Given the description of an element on the screen output the (x, y) to click on. 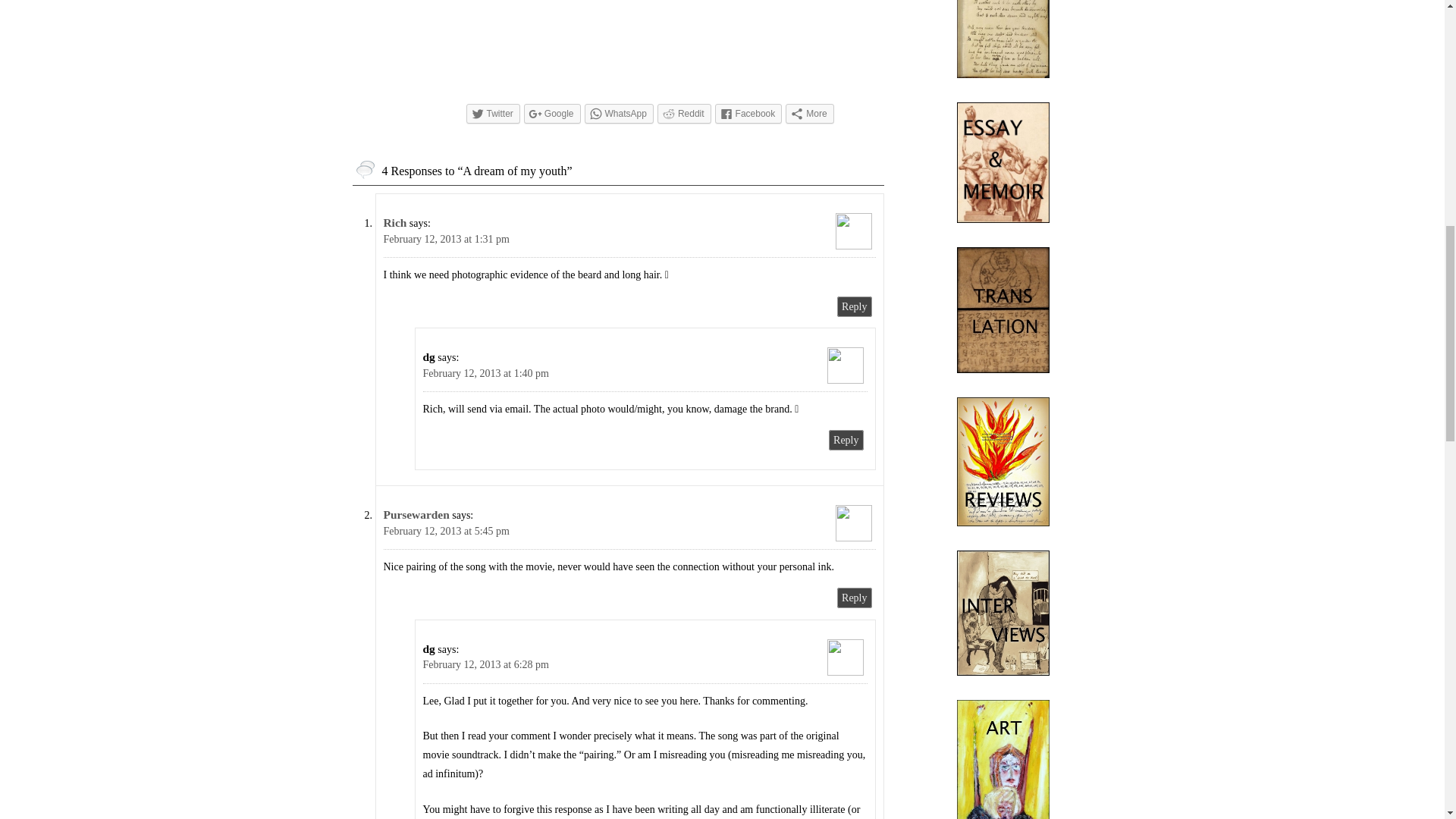
Click to share on Twitter (492, 113)
Click to share on Facebook (748, 113)
Click to share on Reddit (684, 113)
Click to share on WhatsApp (619, 113)
